Given the description of an element on the screen output the (x, y) to click on. 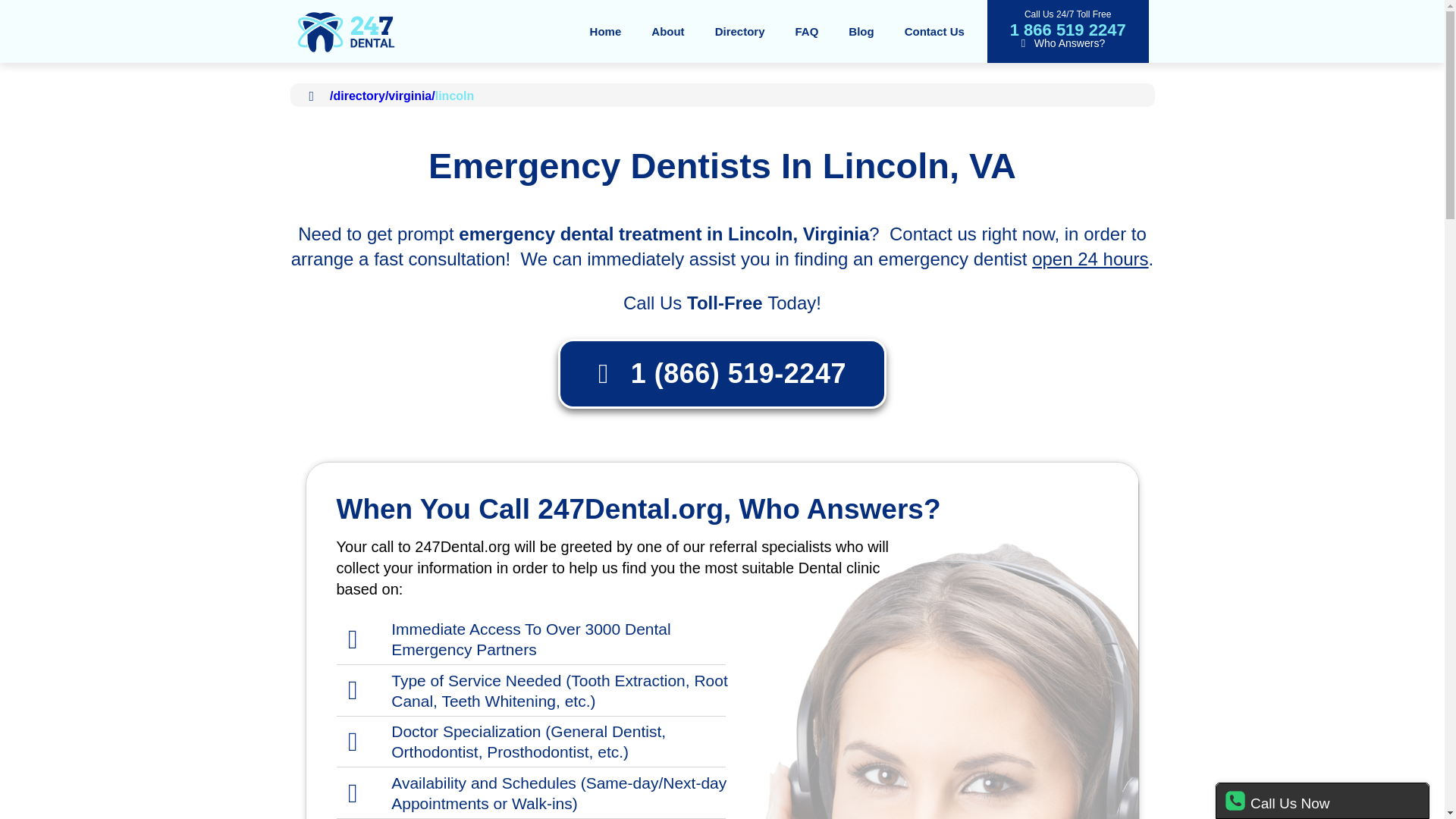
Contact Us (934, 30)
Directory (740, 30)
FAQ (805, 30)
Home (606, 30)
Blog (860, 30)
1 866 519 2247 (1067, 28)
Who Answers? (1060, 42)
About (667, 30)
